Given the description of an element on the screen output the (x, y) to click on. 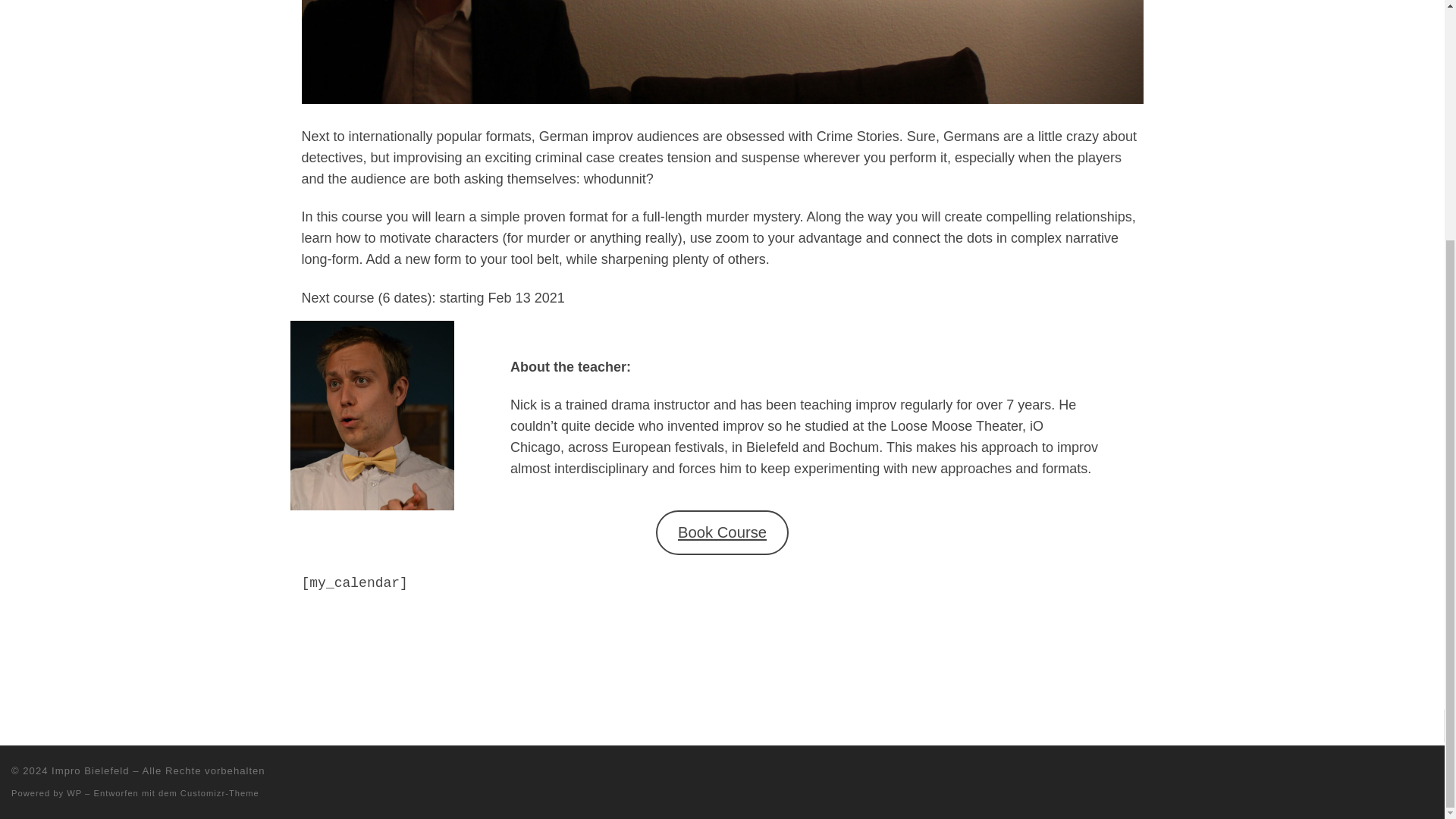
Impro Bielefeld (89, 770)
WP (73, 792)
Powered by WordPress (73, 792)
Book Course (722, 532)
Impro Bielefeld (89, 770)
Customizr-Theme (219, 792)
Customizr-Theme (219, 792)
